Given the description of an element on the screen output the (x, y) to click on. 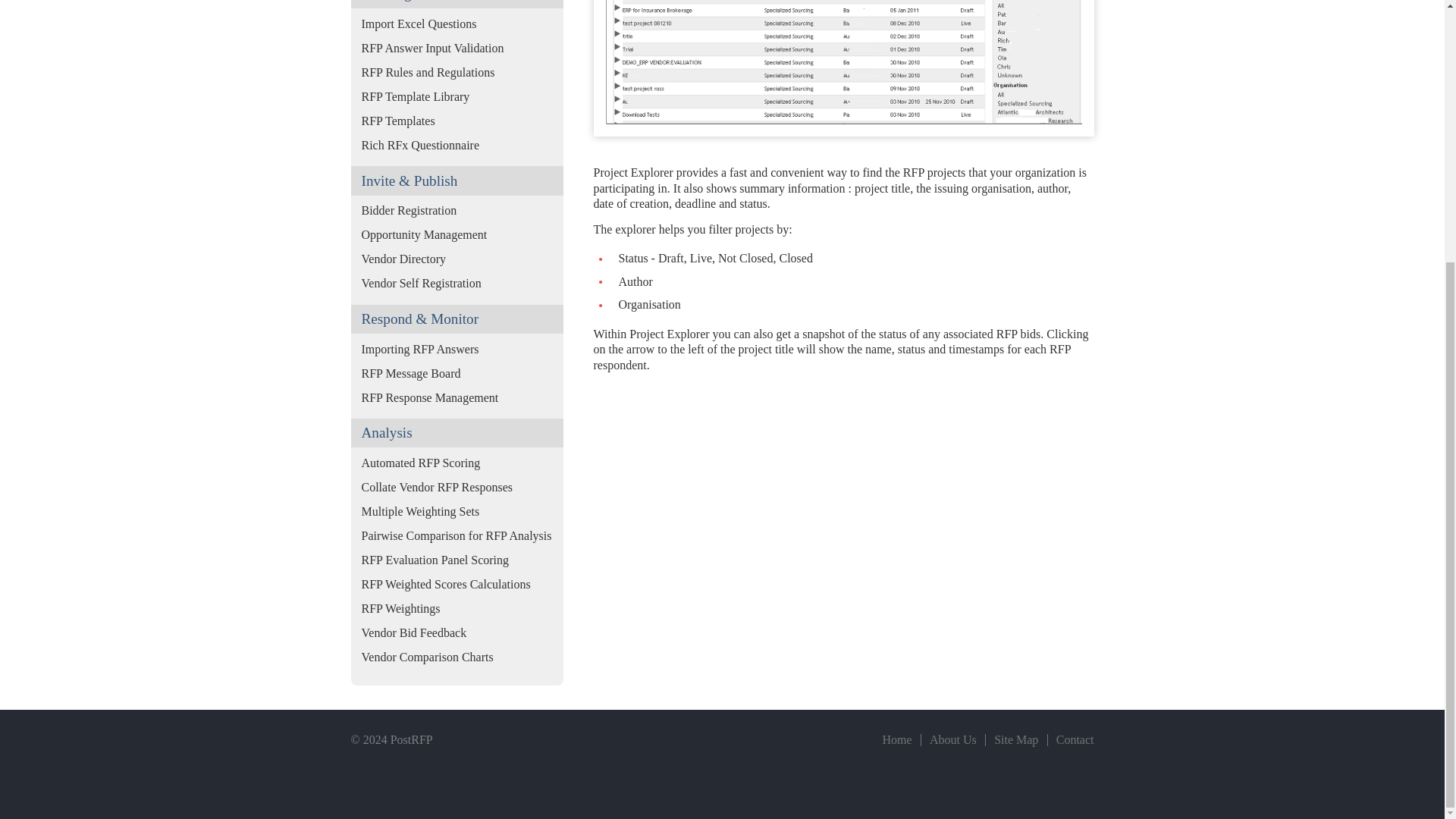
RFP Rules and Regulations (456, 72)
Vendor Bid Feedback (456, 632)
Opportunity Management (456, 234)
Bidder Registration (456, 210)
Automated RFP Scoring (456, 463)
Rich RFx Questionnaire (456, 145)
RFP Weighted Scores Calculations (456, 584)
RFP Response Management (456, 397)
Vendor Self Registration (456, 283)
Vendor Comparison Charts (456, 657)
RFP Templates (456, 120)
RFP Message Board (456, 373)
RFP Template Library (456, 96)
Pairwise Comparison for RFP Analysis (456, 535)
RFP Weightings (456, 608)
